Given the description of an element on the screen output the (x, y) to click on. 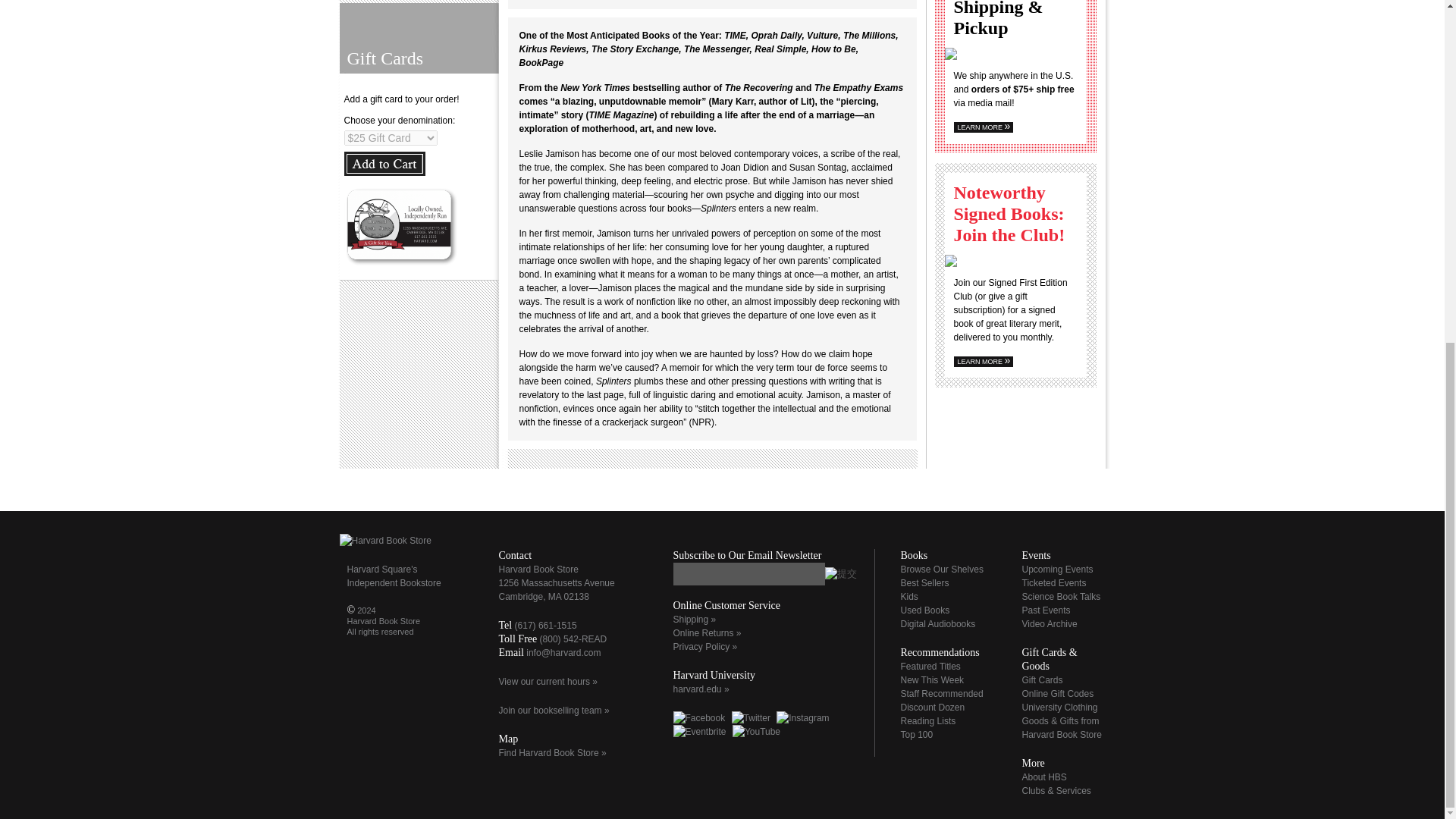
Facebook (698, 717)
Add to Cart (384, 163)
Harvard Book Store (384, 540)
YouTube (756, 731)
Twitter (751, 717)
Eventbrite (699, 731)
